Given the description of an element on the screen output the (x, y) to click on. 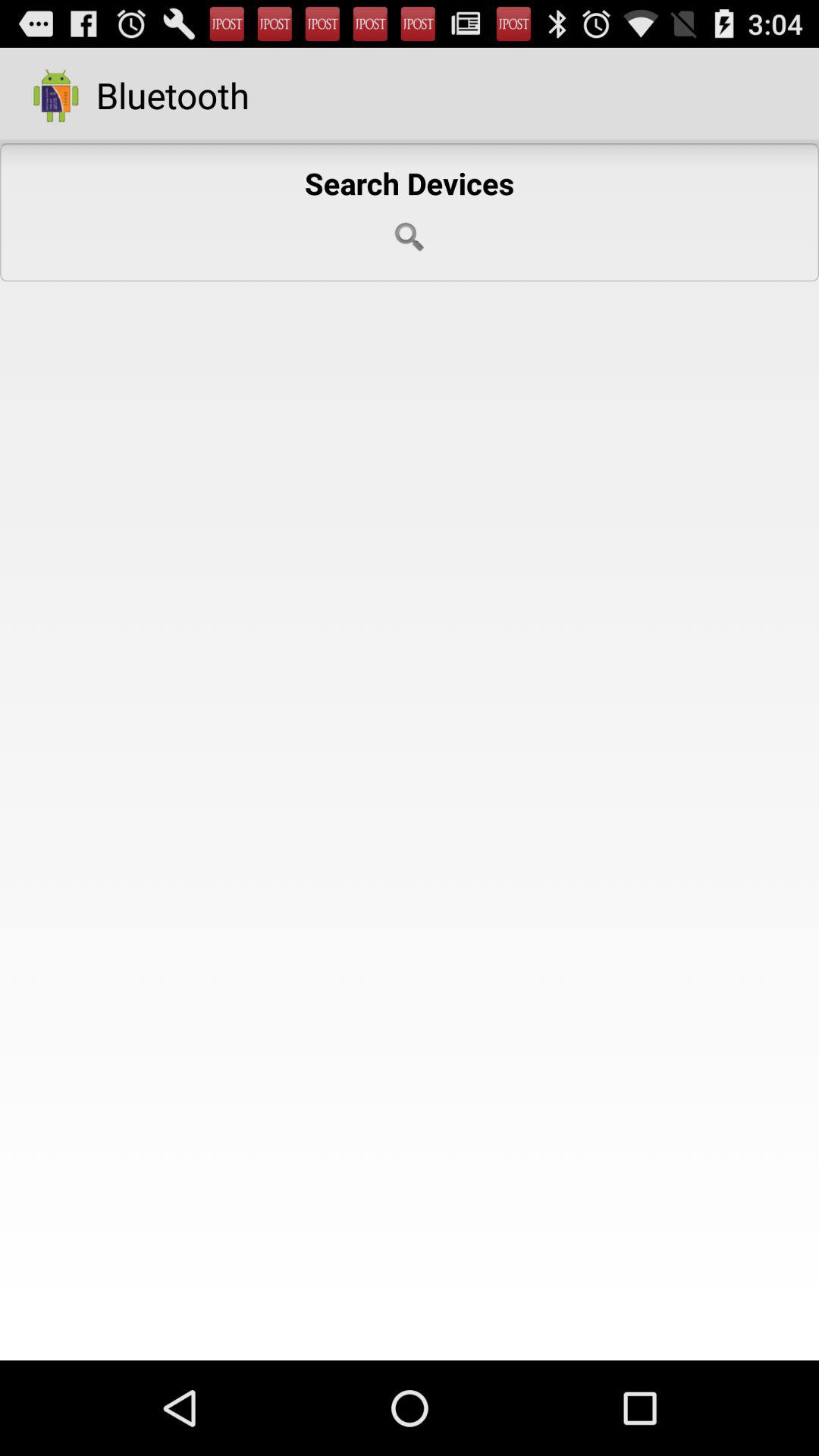
jump until the search devices item (409, 212)
